Given the description of an element on the screen output the (x, y) to click on. 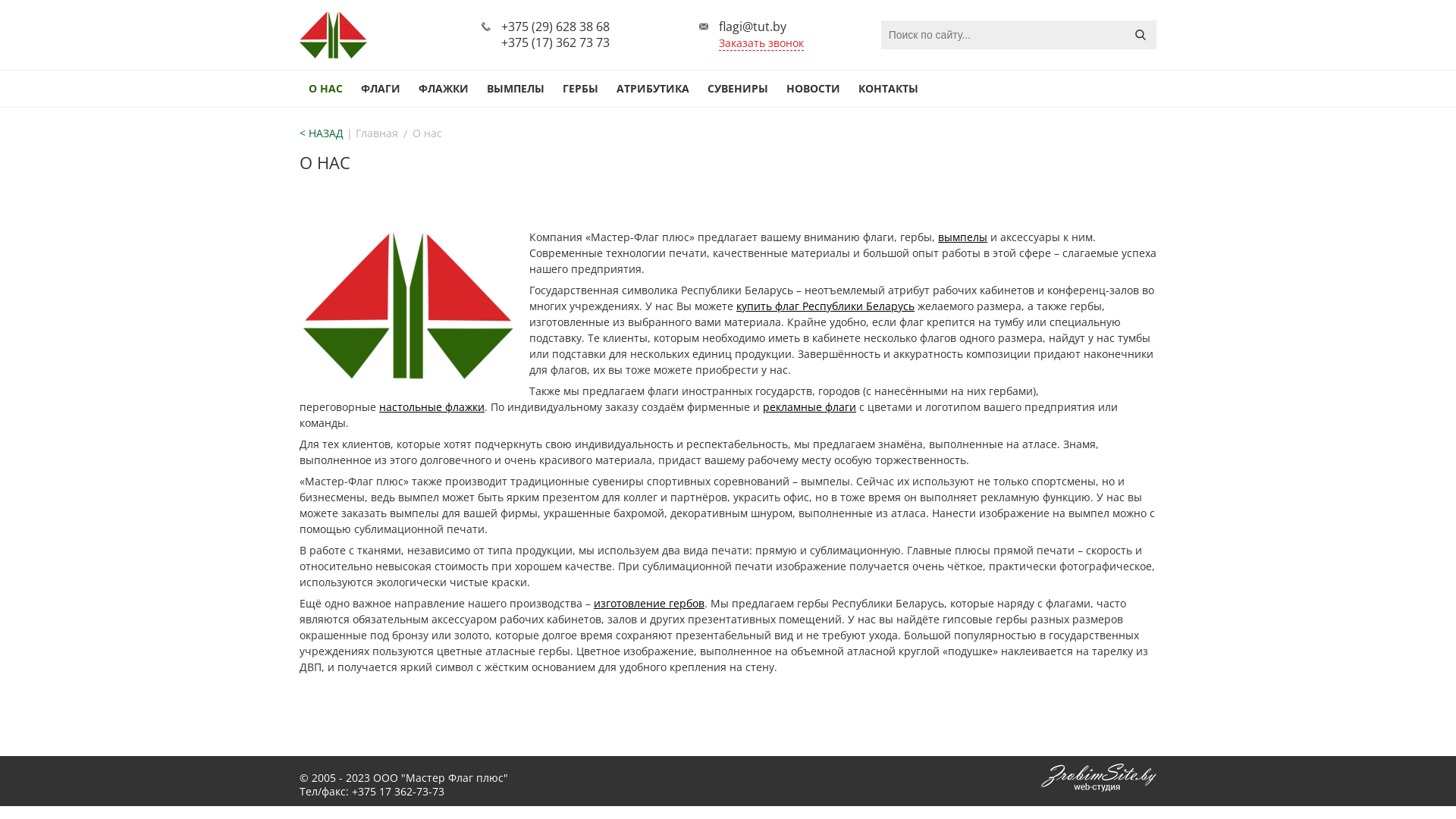
flagi@tut.by Element type: text (752, 26)
